Given the description of an element on the screen output the (x, y) to click on. 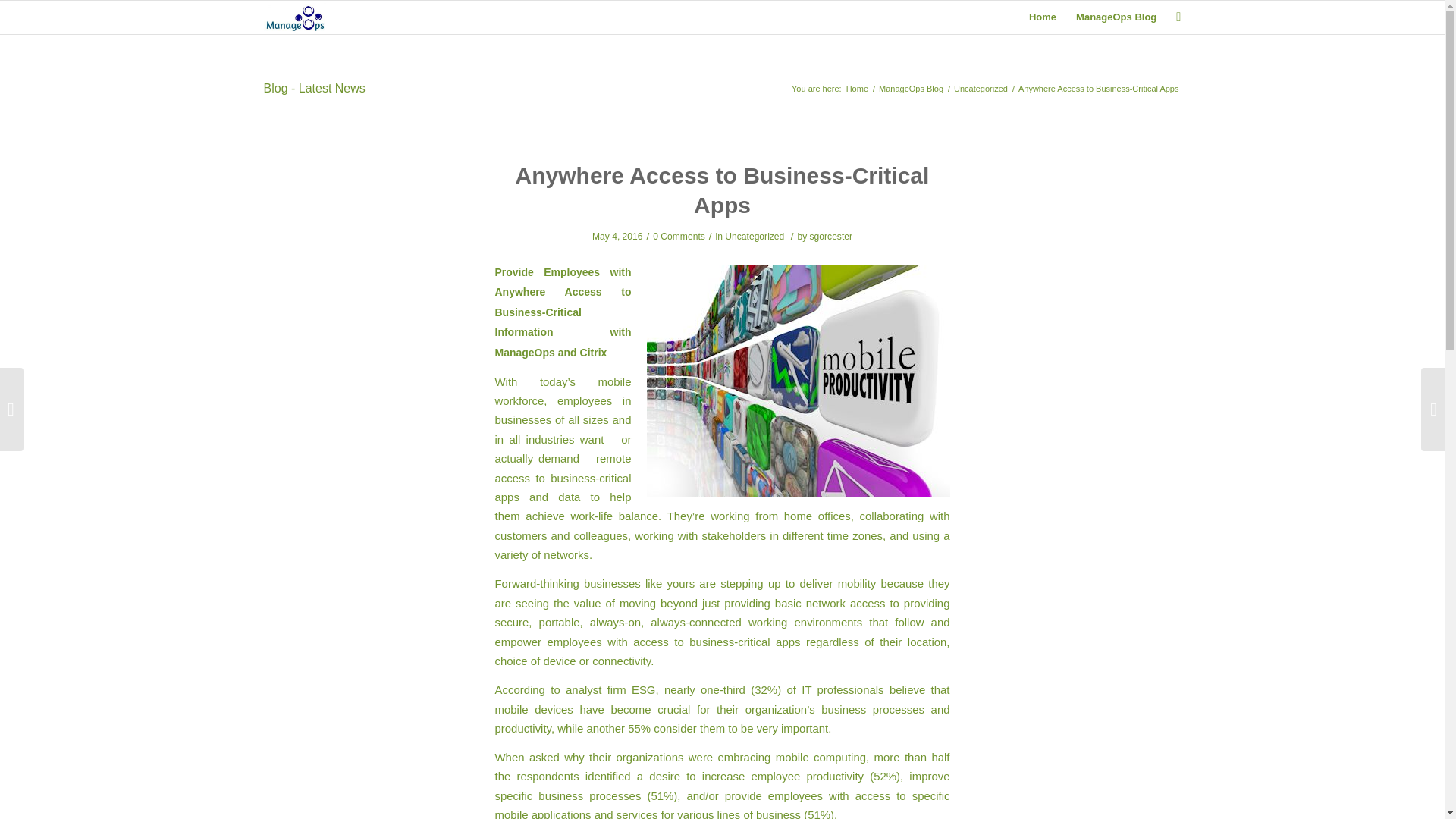
Permanent Link: Blog - Latest News (314, 88)
0 Comments (678, 235)
Uncategorized (981, 89)
Permanent Link: Anywhere Access to Business-Critical Apps (722, 189)
Home (857, 89)
sgorcester (830, 235)
Uncategorized (754, 235)
Posts by sgorcester (830, 235)
ManageOps Blog (1115, 17)
Blog - Latest News (314, 88)
ManageOps (857, 89)
ManageOps Blog (910, 89)
Anywhere Access to Business-Critical Apps (722, 189)
Home (1042, 17)
ManageOps Blog (910, 89)
